Given the description of an element on the screen output the (x, y) to click on. 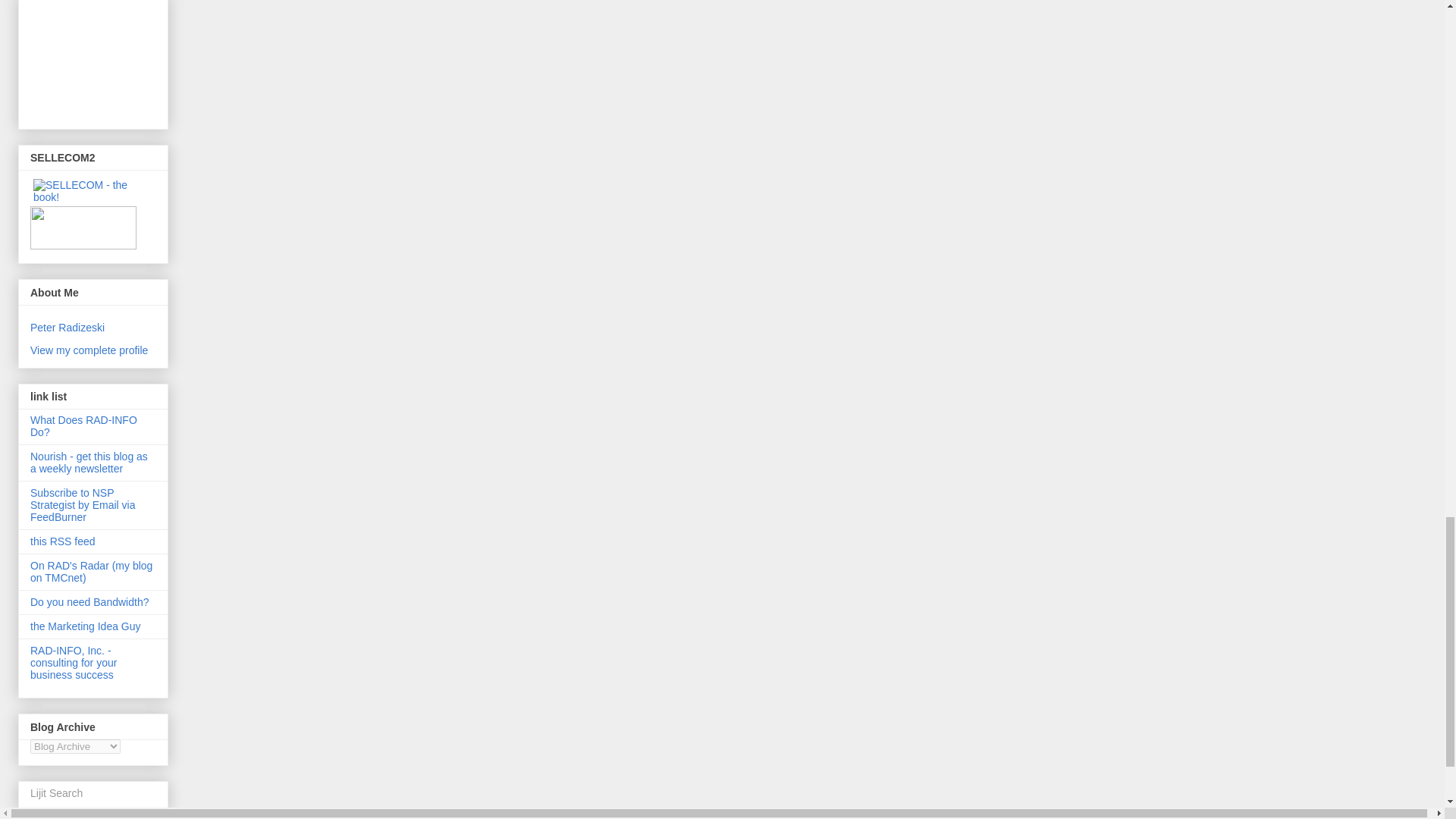
Do you need Bandwidth? (89, 602)
this RSS feed (63, 541)
the Marketing Idea Guy (85, 625)
What Does RAD-INFO Do? (83, 426)
Peter Radizeski (67, 327)
View my complete profile (89, 349)
Nourish - get this blog as a weekly newsletter (89, 462)
Advertisement (98, 58)
RAD-INFO, Inc. - consulting for your business success (73, 662)
Subscribe to NSP Strategist by Email via FeedBurner (82, 504)
